Given the description of an element on the screen output the (x, y) to click on. 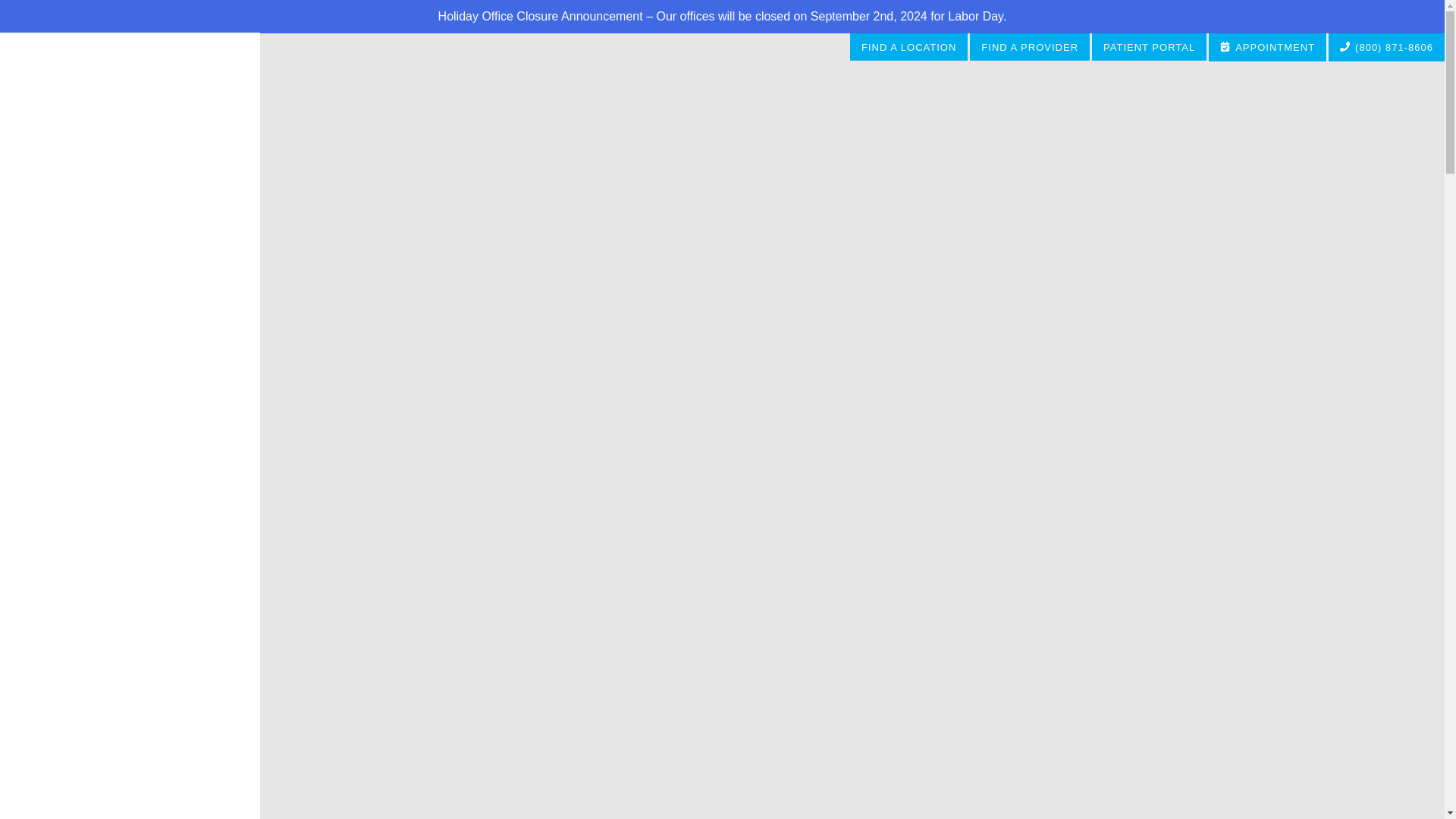
PATIENT PORTAL (1150, 46)
FIND A LOCATION (909, 46)
APPOINTMENT (1267, 47)
FIND A PROVIDER (1029, 46)
